Given the description of an element on the screen output the (x, y) to click on. 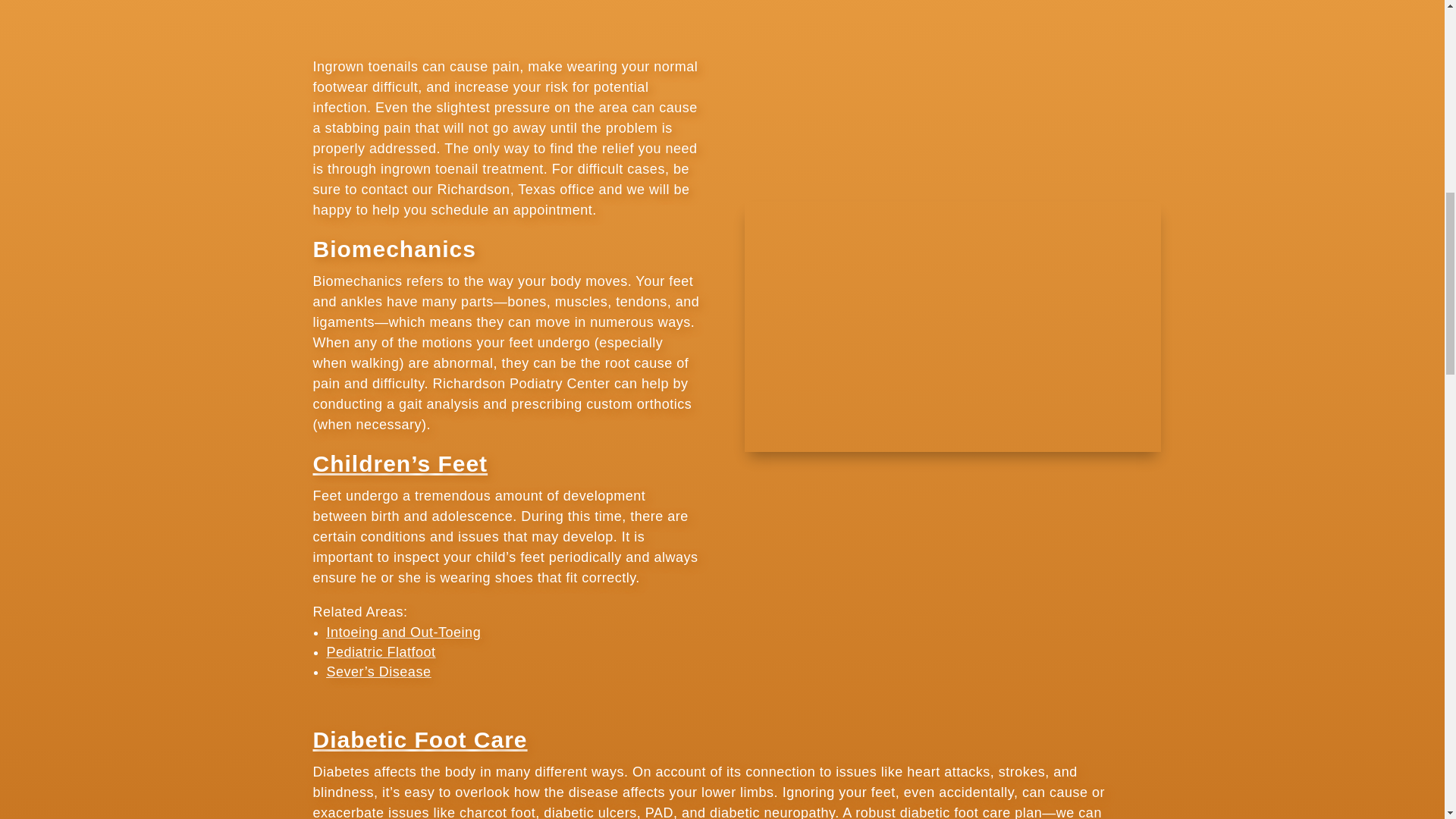
Richardson Service Page (952, 326)
